Given the description of an element on the screen output the (x, y) to click on. 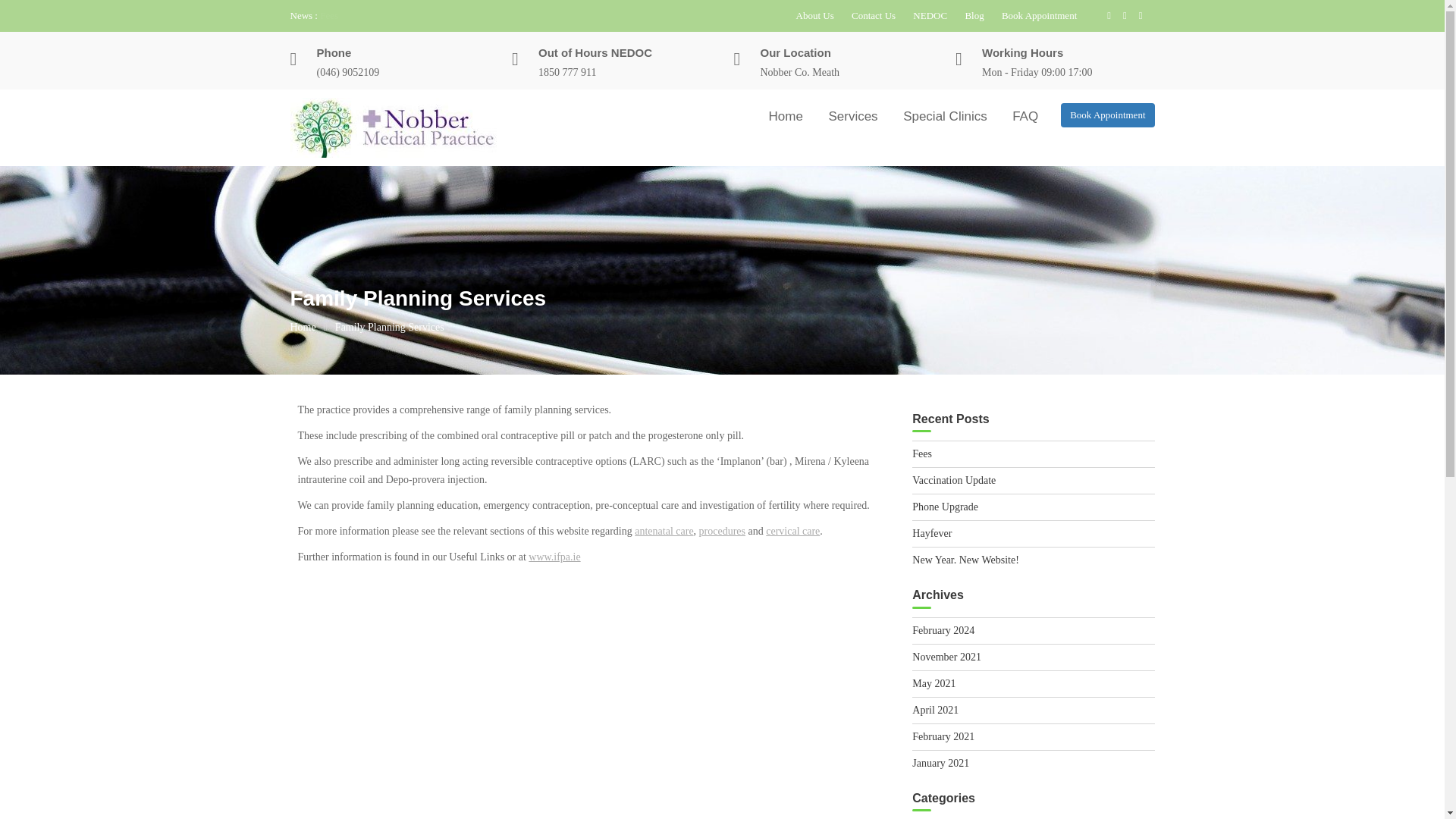
FAQ (1025, 116)
www.ifpa.ie (553, 555)
Fees (921, 453)
Hayfever (932, 532)
Services (852, 116)
May 2021 (933, 683)
February 2024 (943, 630)
November 2021 (946, 656)
Home (785, 116)
Book Appointment (1039, 15)
Special Clinics (944, 116)
April 2021 (935, 709)
Book Appointment (1107, 115)
procedures (721, 530)
cervical care (792, 530)
